Given the description of an element on the screen output the (x, y) to click on. 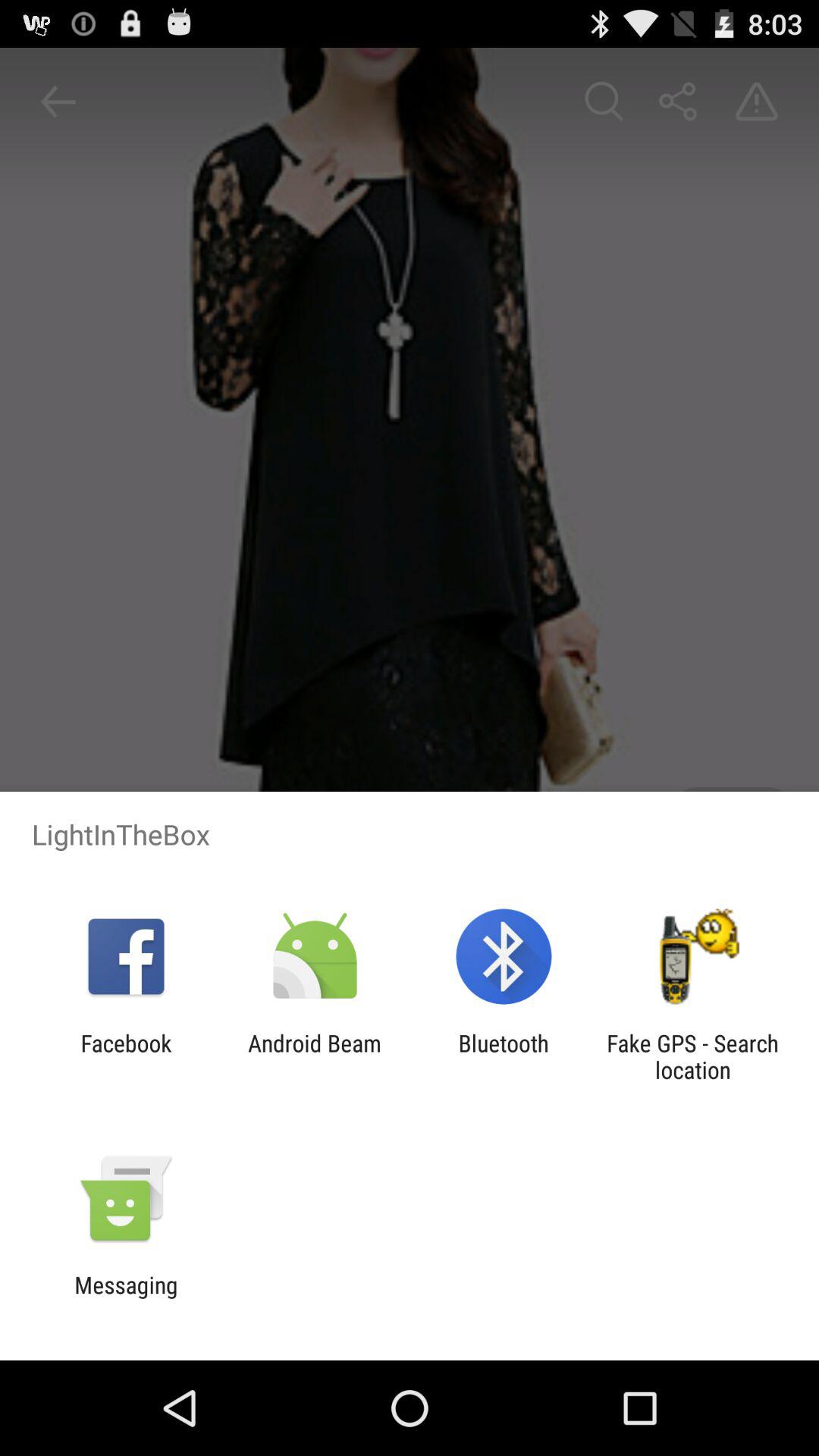
launch icon to the left of the bluetooth icon (314, 1056)
